Given the description of an element on the screen output the (x, y) to click on. 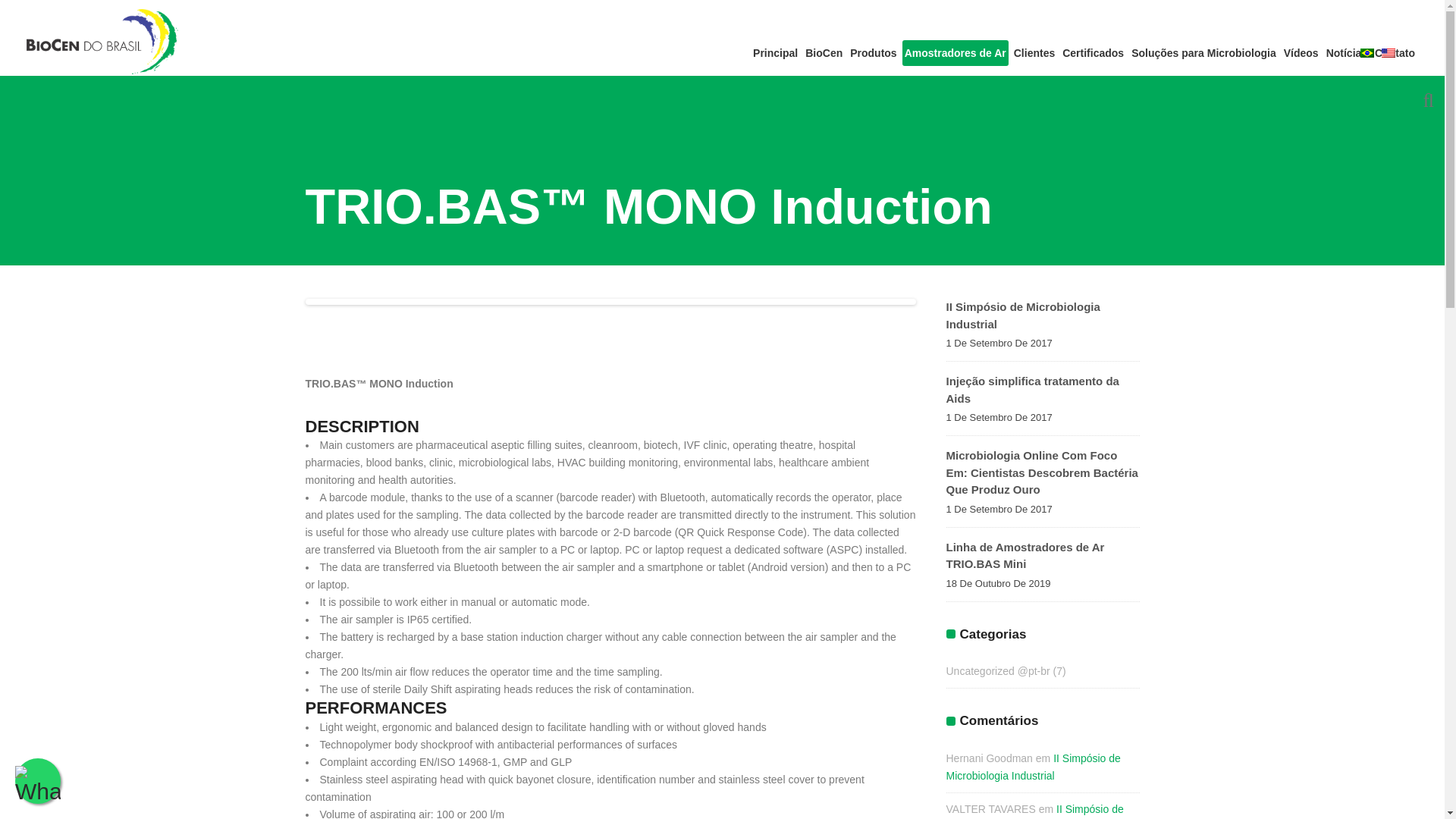
Amostradores de Ar (955, 52)
English (1387, 52)
